Given the description of an element on the screen output the (x, y) to click on. 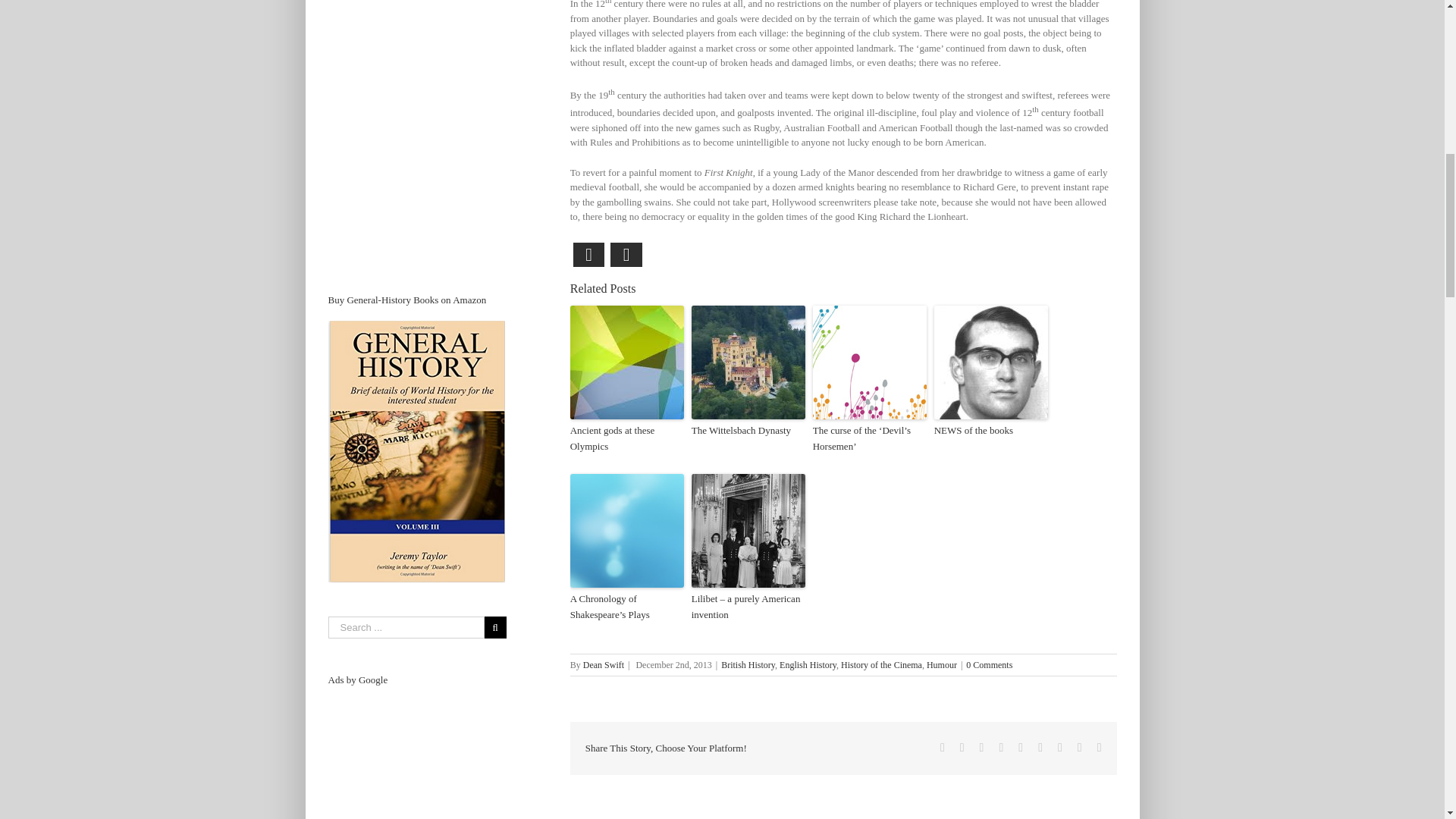
Share this article on Facebook (589, 254)
NEWS of the books (991, 430)
Share this article on X (626, 254)
The Wittelsbach Dynasty (748, 430)
Ancient gods at these Olympics (627, 439)
Posts by Dean Swift (603, 665)
